Given the description of an element on the screen output the (x, y) to click on. 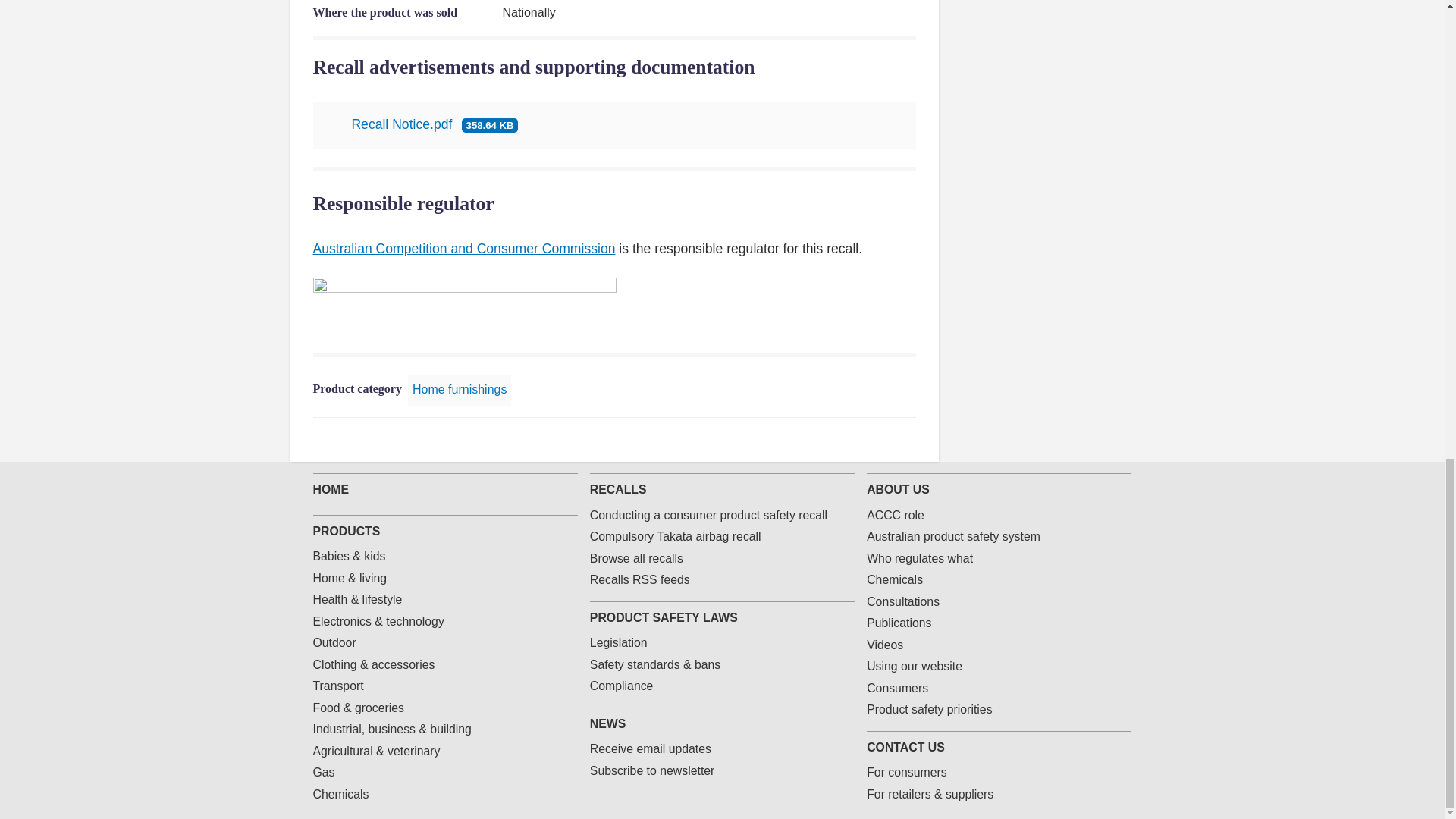
Print (906, 439)
Share on Facebook (809, 439)
Share on Twitter (834, 439)
Email (882, 439)
Share on LinkedIn (857, 439)
